Given the description of an element on the screen output the (x, y) to click on. 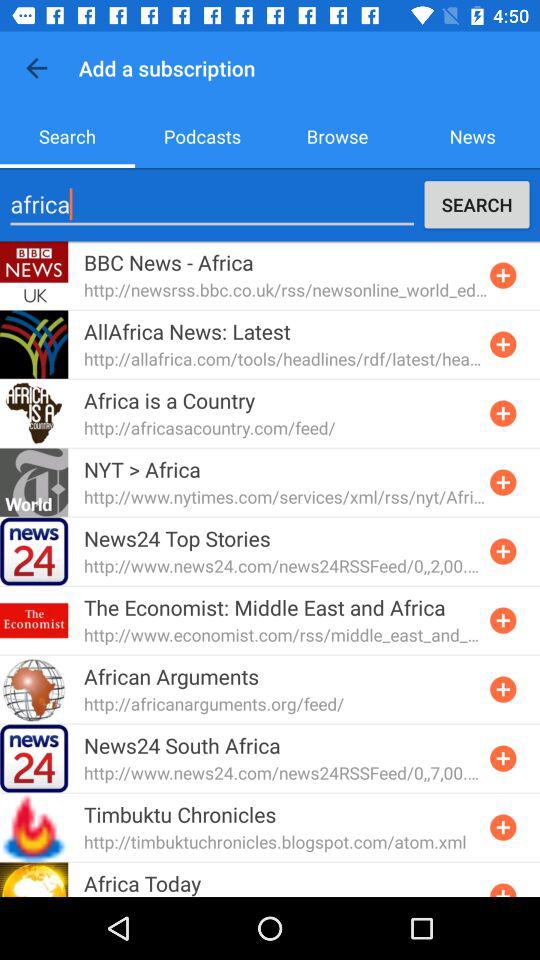
subscribe (503, 482)
